Given the description of an element on the screen output the (x, y) to click on. 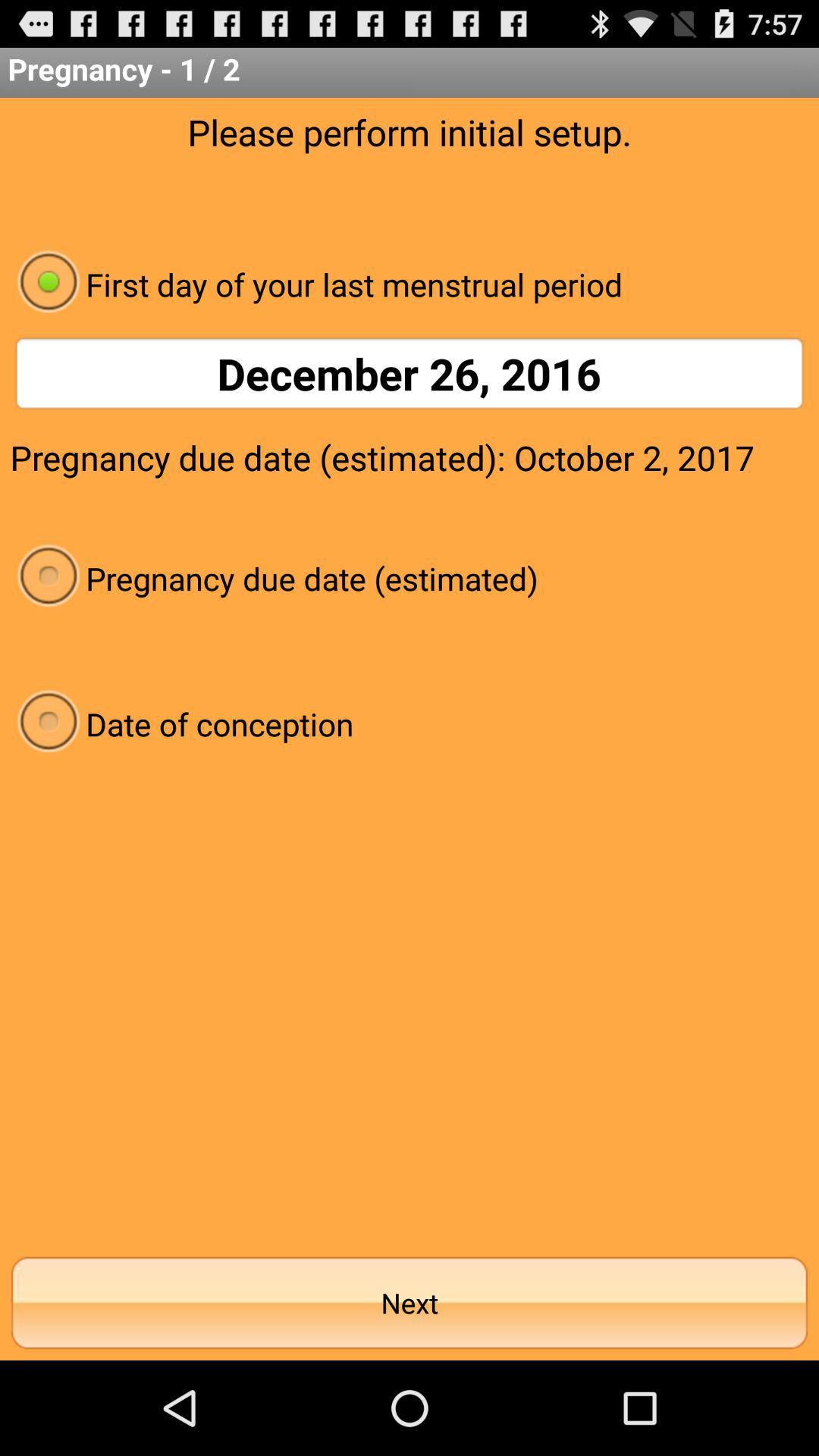
swipe to the date of conception (409, 723)
